Given the description of an element on the screen output the (x, y) to click on. 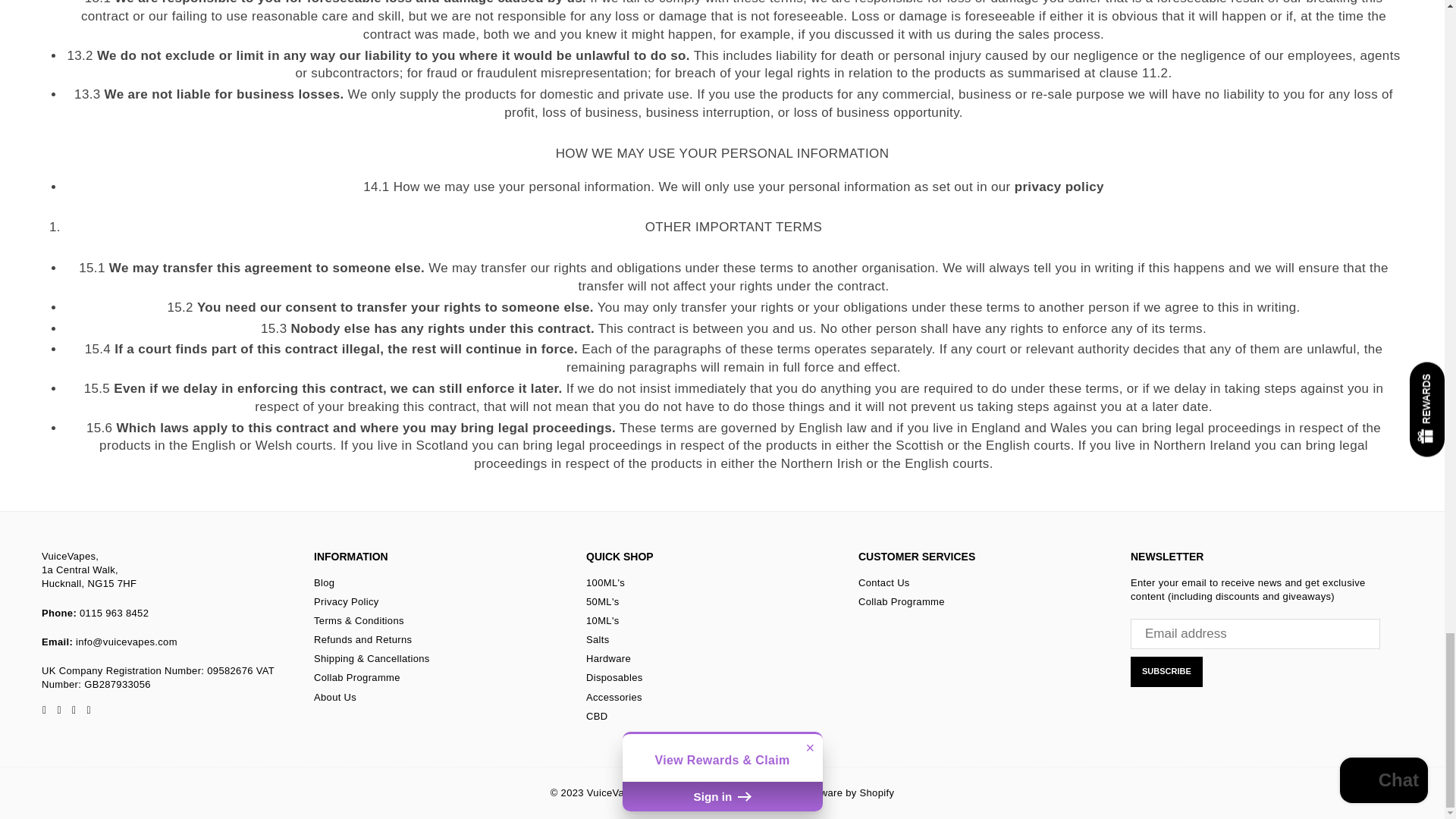
VuiceVapes on Twitter (57, 710)
VuiceVapes on Instagram (88, 710)
VuiceVapes on Pinterest (73, 710)
VuiceVapes on Facebook (43, 710)
